Given the description of an element on the screen output the (x, y) to click on. 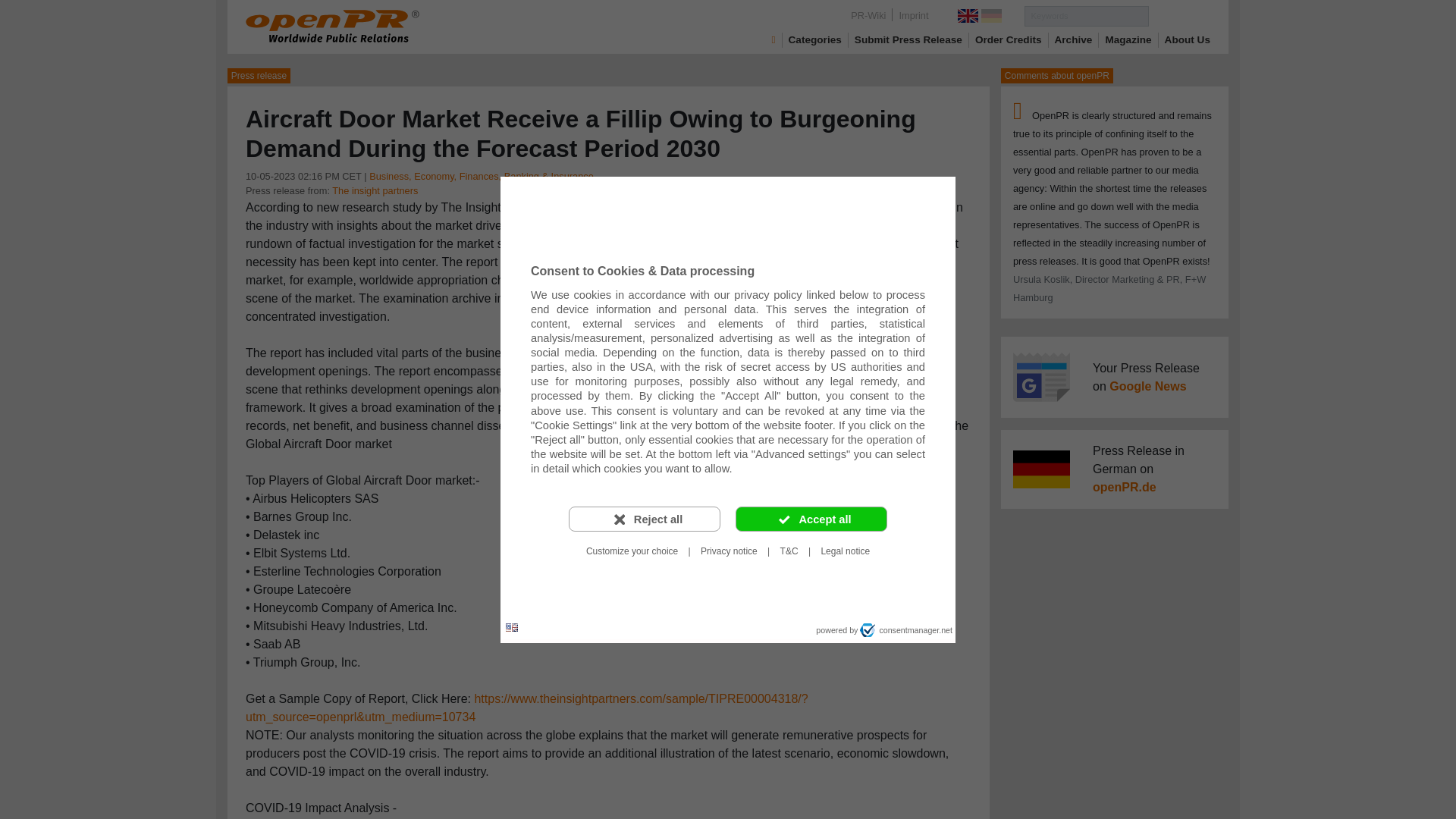
Order Credits (1008, 39)
Reject all (644, 518)
About Us (1186, 39)
Privacy notice (729, 550)
Imprint (913, 15)
Categories (815, 39)
Archive (1073, 39)
Magazine (1128, 39)
Language: en (511, 627)
PR-Wiki (867, 15)
Submit Press Release (908, 39)
Language: en (511, 627)
Search   (1178, 15)
Legal notice (844, 550)
Accept all (810, 518)
